Given the description of an element on the screen output the (x, y) to click on. 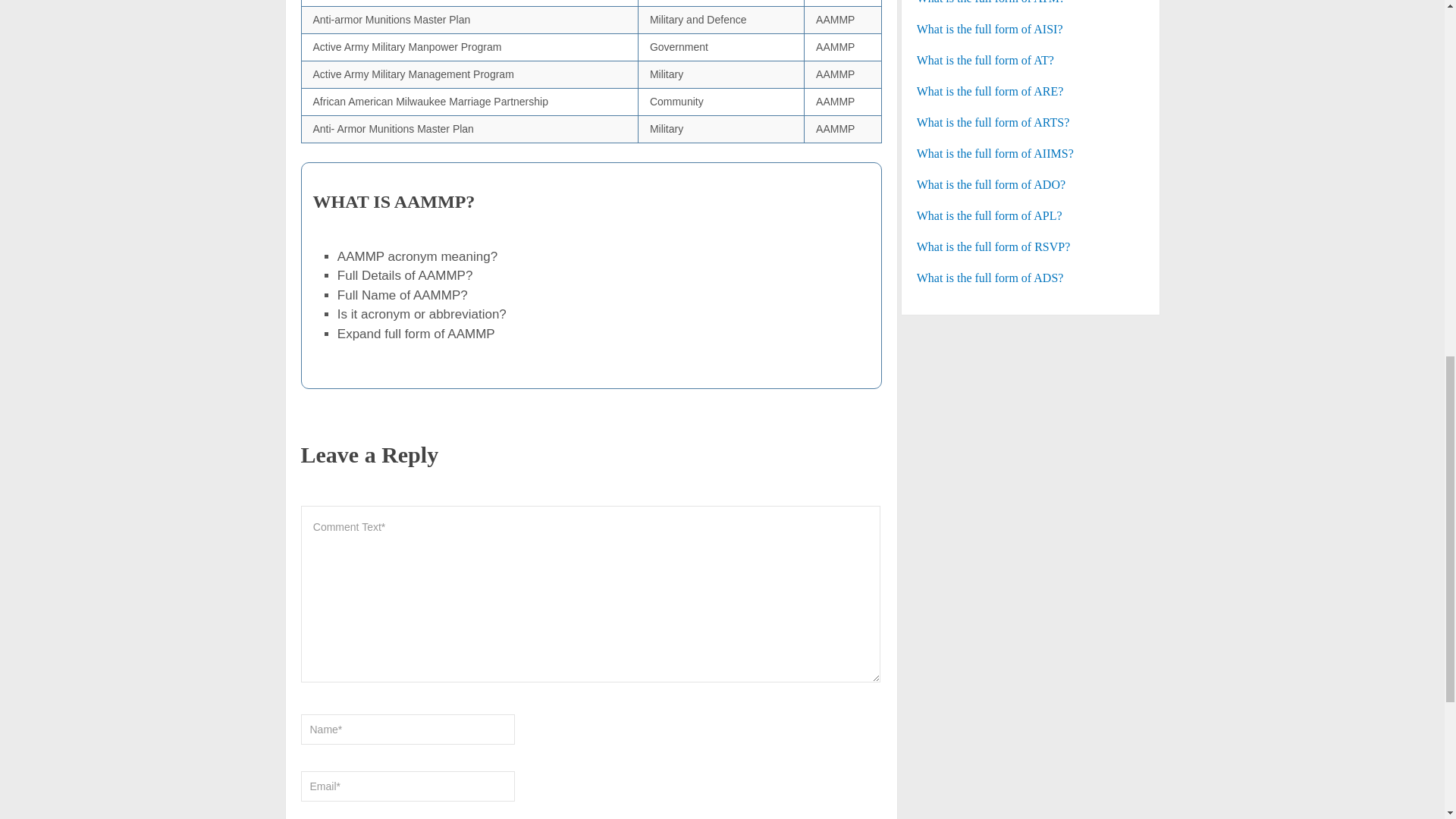
What is the full form of AISI? (1030, 29)
What is the full form of ADS? (1030, 278)
What is the full form of AIIMS? (1030, 153)
What is the full form of ATM? (1030, 3)
What is the full form of AT? (1030, 60)
What is the full form of ADO? (1030, 185)
What is the full form of AIIMS? (1030, 153)
What is the full form of ARE? (1030, 91)
What is the full form of RSVP? (1030, 247)
What is the full form of APL? (1030, 216)
